Given the description of an element on the screen output the (x, y) to click on. 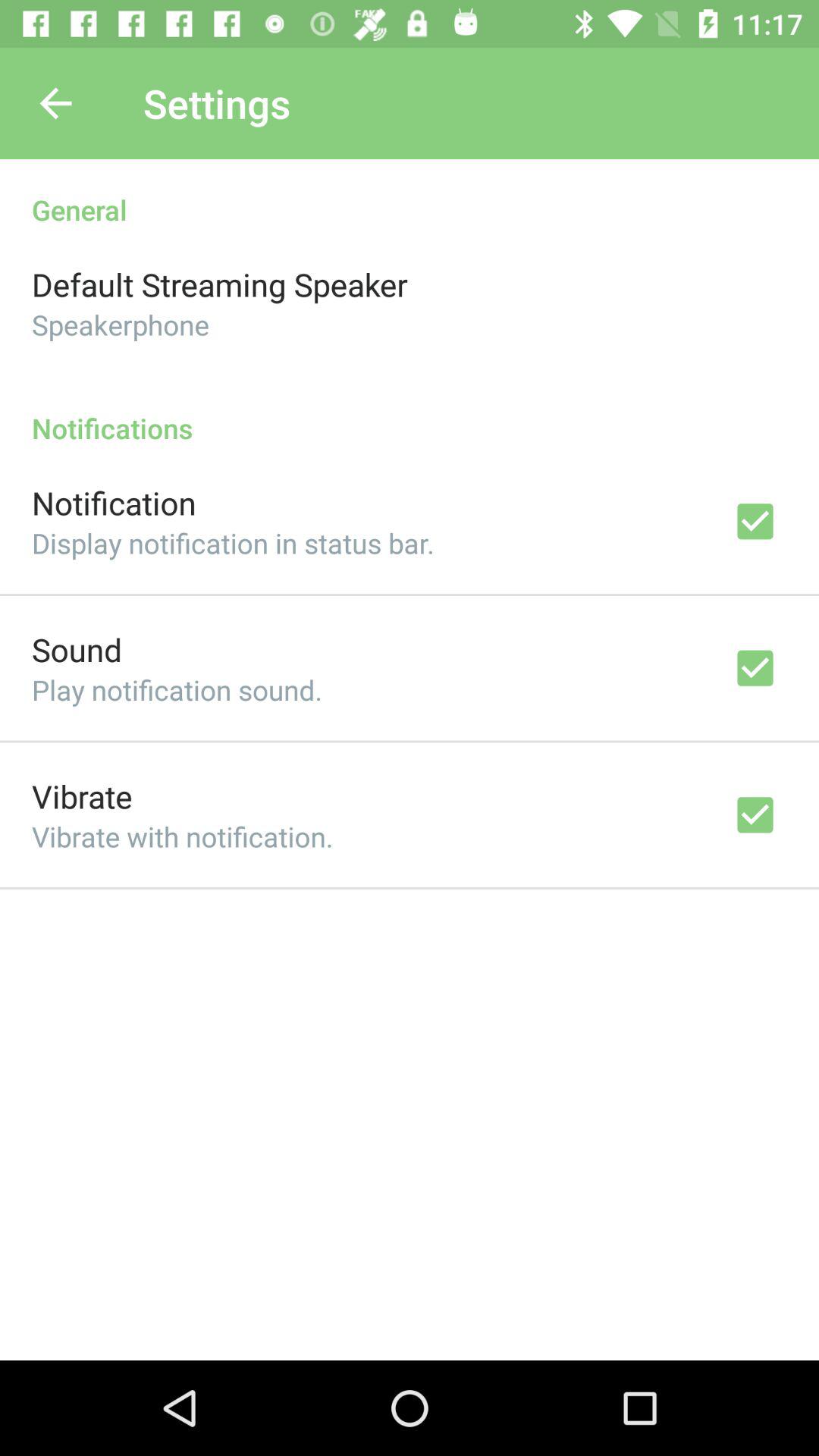
click the icon below speakerphone icon (409, 412)
